Given the description of an element on the screen output the (x, y) to click on. 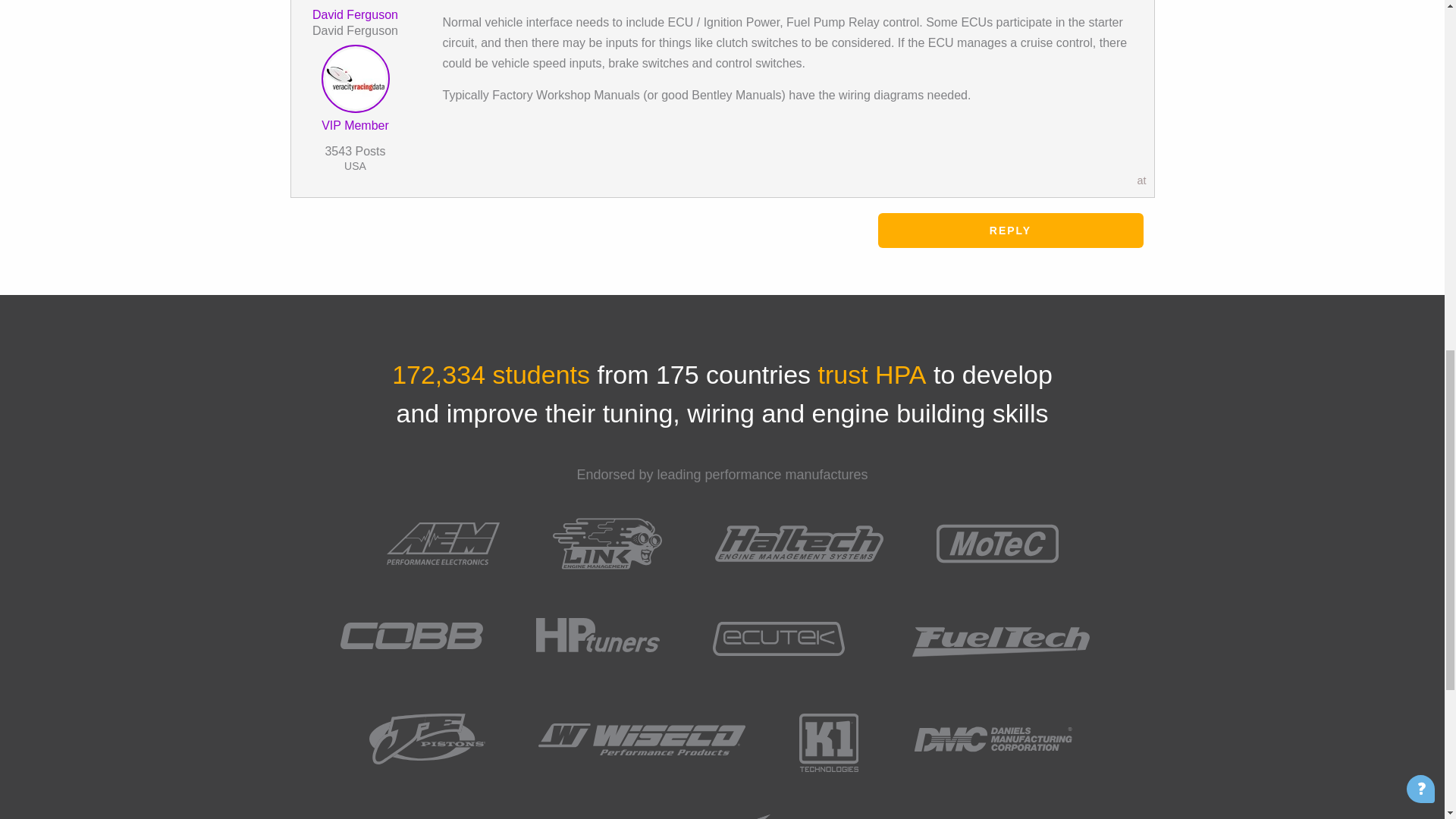
Click here to reply to this topic (1009, 230)
Click here to view David Ferguson (355, 81)
Click here to view David Ferguson (355, 14)
